Given the description of an element on the screen output the (x, y) to click on. 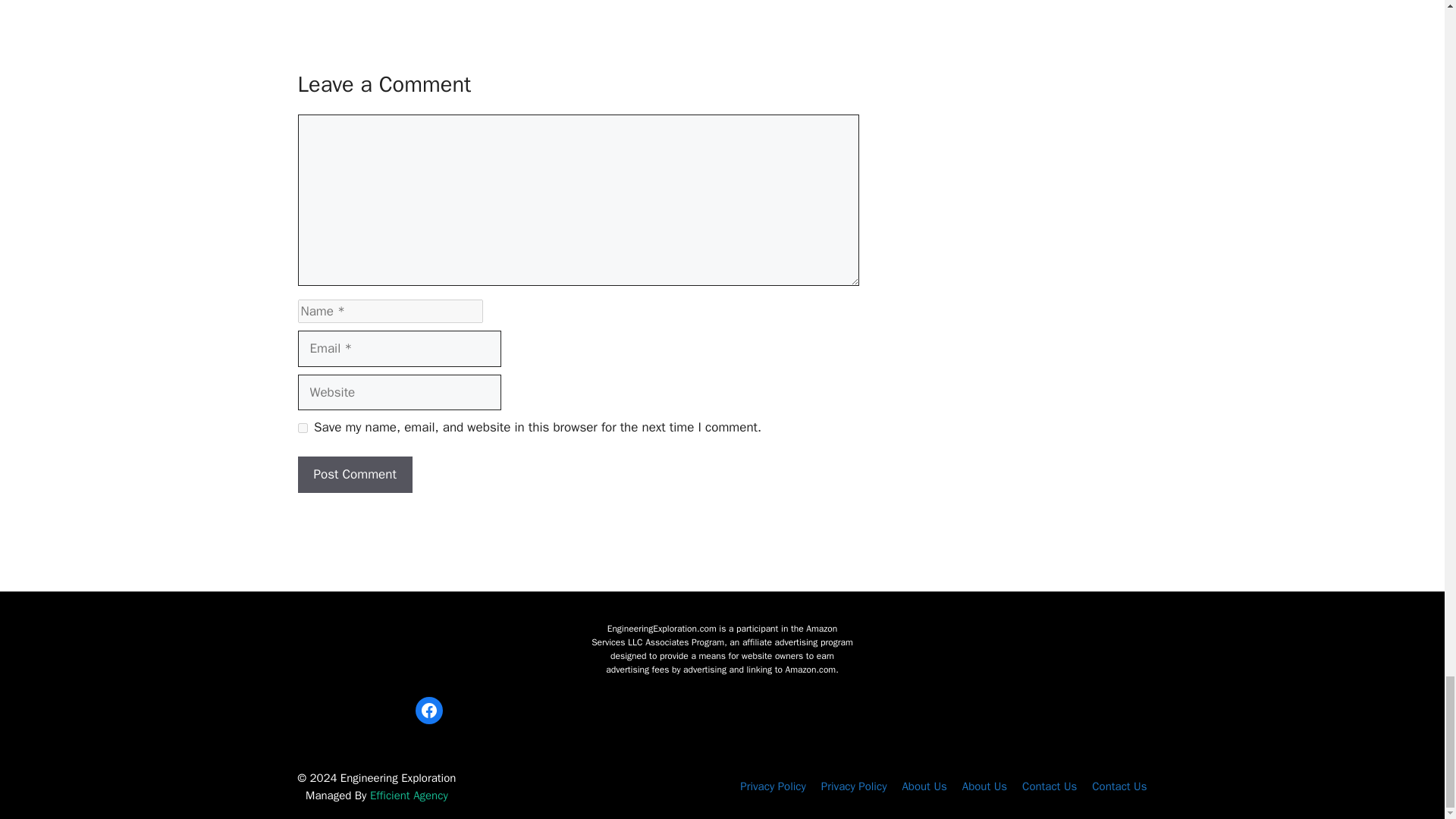
Post Comment (354, 474)
yes (302, 428)
Engineering X Logo Mobile (428, 647)
